Given the description of an element on the screen output the (x, y) to click on. 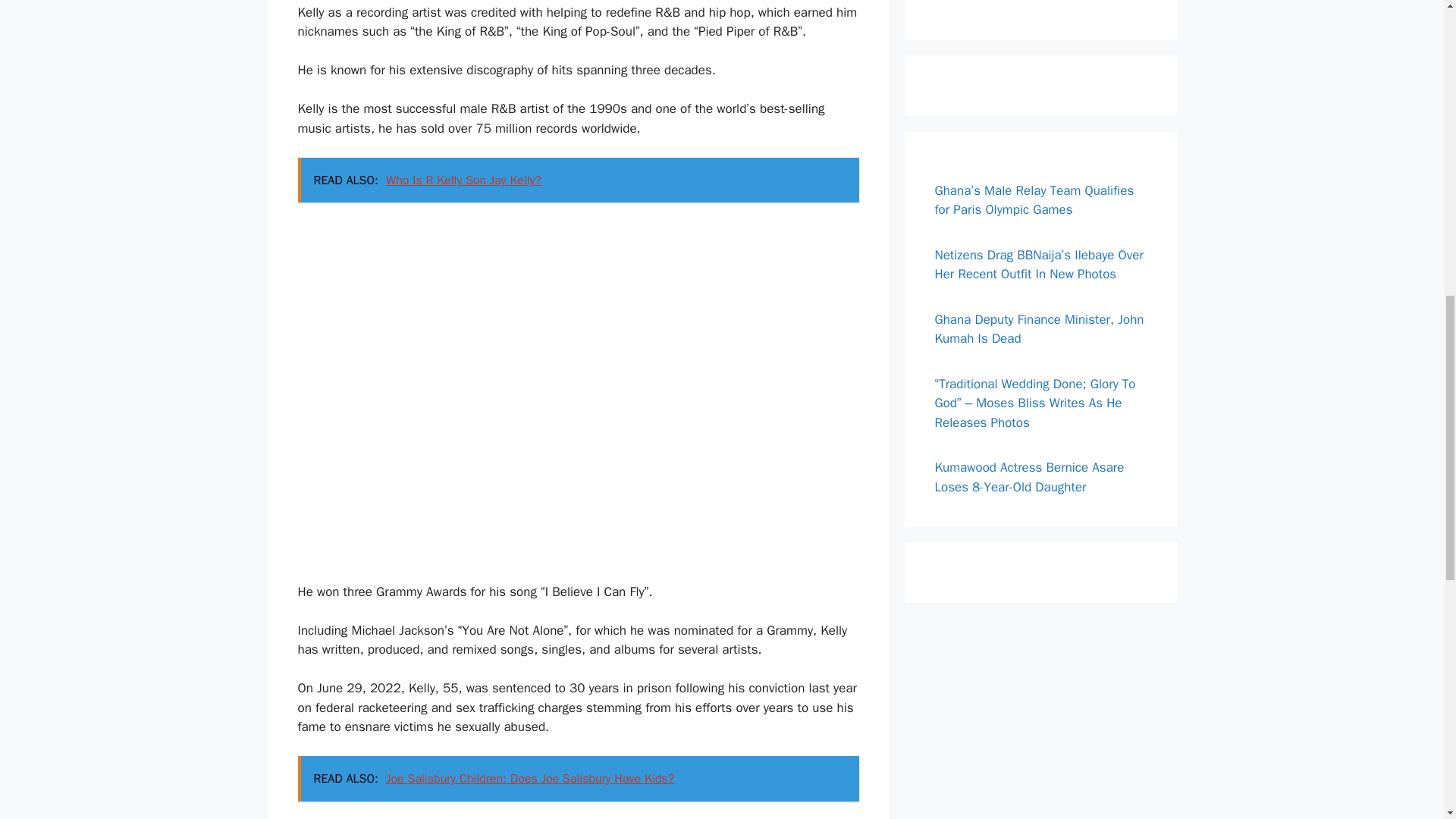
READ ALSO:  Who Is R Kelly Son Jay Kelly? (578, 180)
Ghana Deputy Finance Minister, John Kumah Is Dead (1038, 328)
Kumawood Actress Bernice Asare Loses 8-Year-Old Daughter (1029, 477)
